Given the description of an element on the screen output the (x, y) to click on. 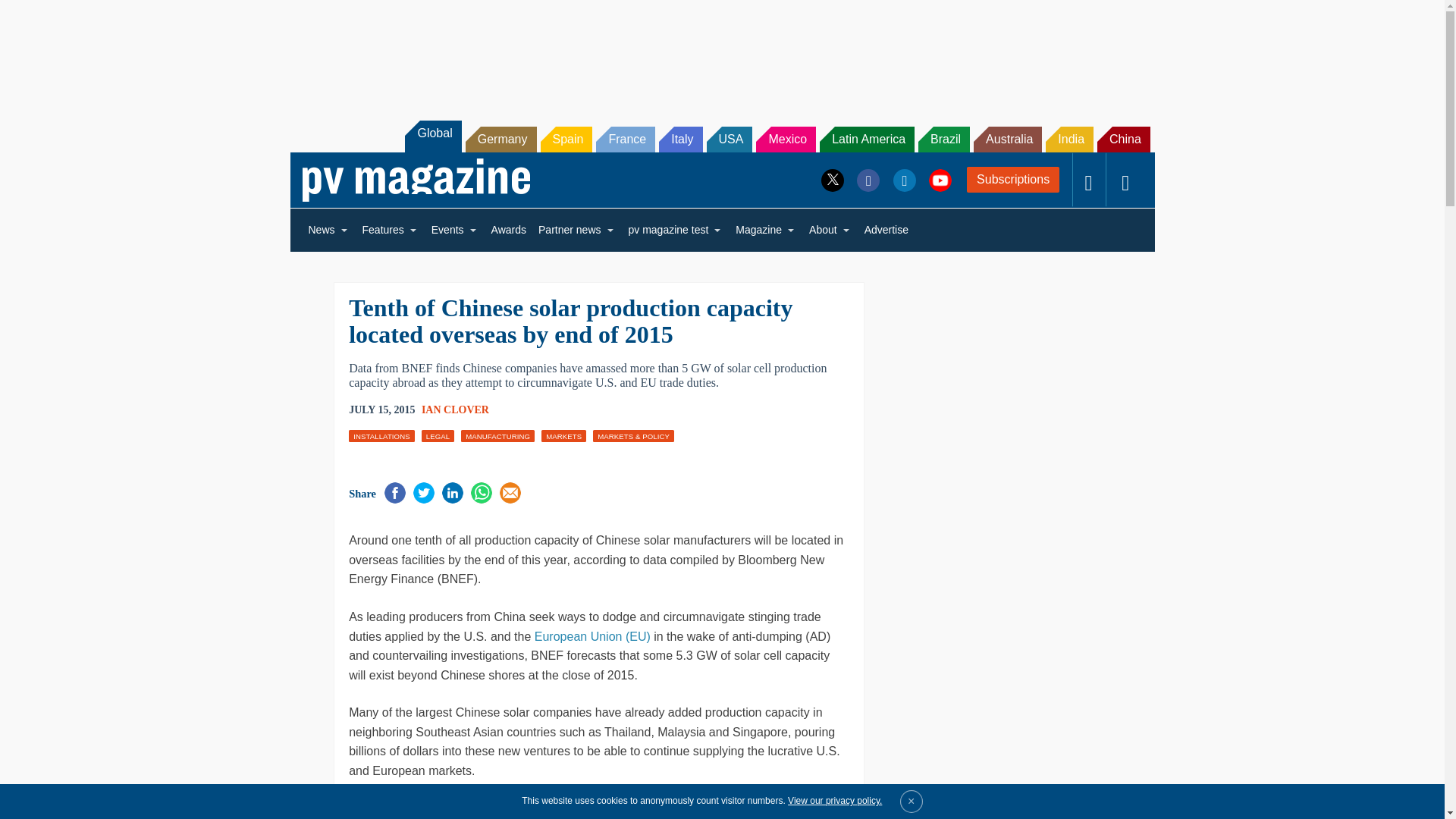
China (1123, 139)
pv magazine - Photovoltaics Markets and Technology (415, 179)
Search (32, 15)
Germany (501, 139)
3rd party ad content (721, 51)
Posts by Ian Clover (455, 409)
Mexico (785, 139)
Brazil (943, 139)
Subscriptions (1012, 179)
Latin America (866, 139)
Spain (566, 139)
France (625, 139)
Australia (1008, 139)
Wednesday, July 15, 2015, 12:00 am (381, 410)
India (1069, 139)
